Given the description of an element on the screen output the (x, y) to click on. 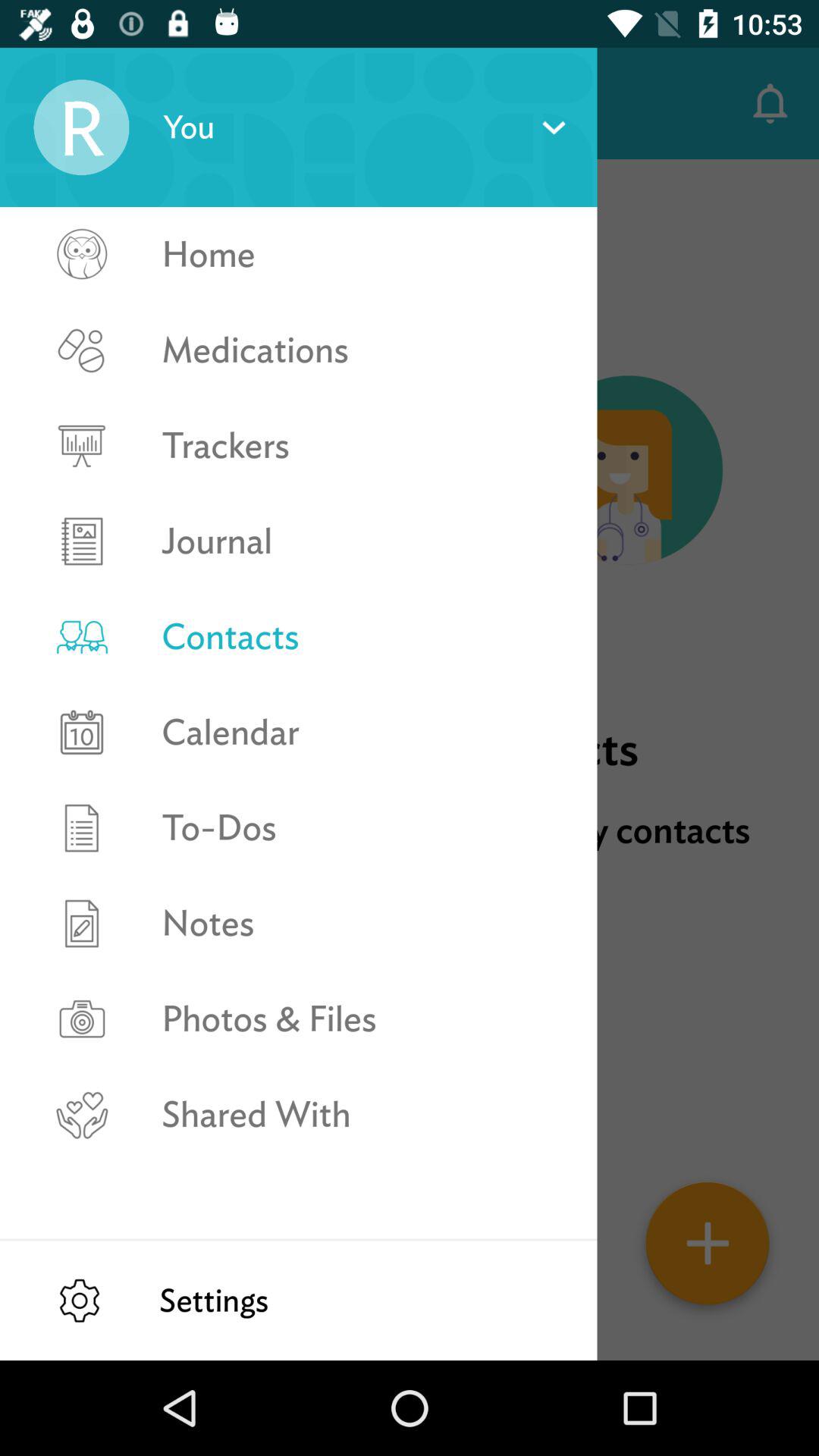
turn on the icon below the store doctors clinics item (409, 994)
